Given the description of an element on the screen output the (x, y) to click on. 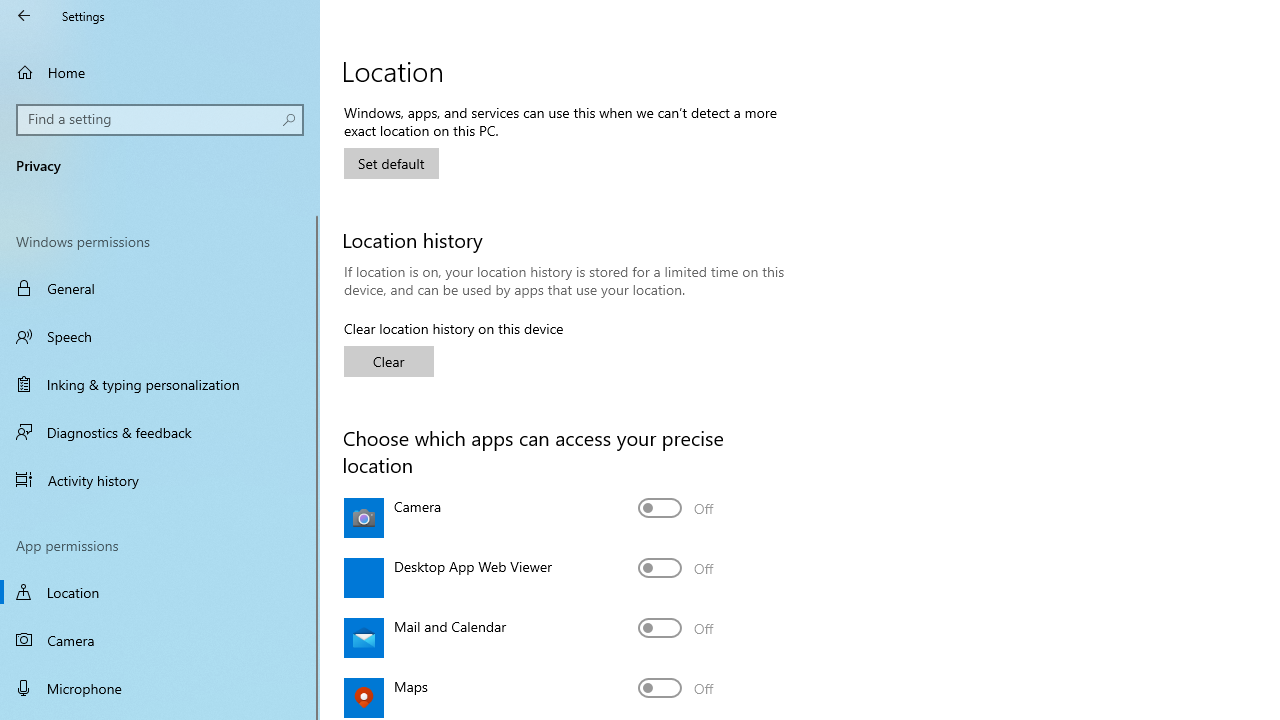
Microphone (160, 687)
Diagnostics & feedback (160, 431)
